Given the description of an element on the screen output the (x, y) to click on. 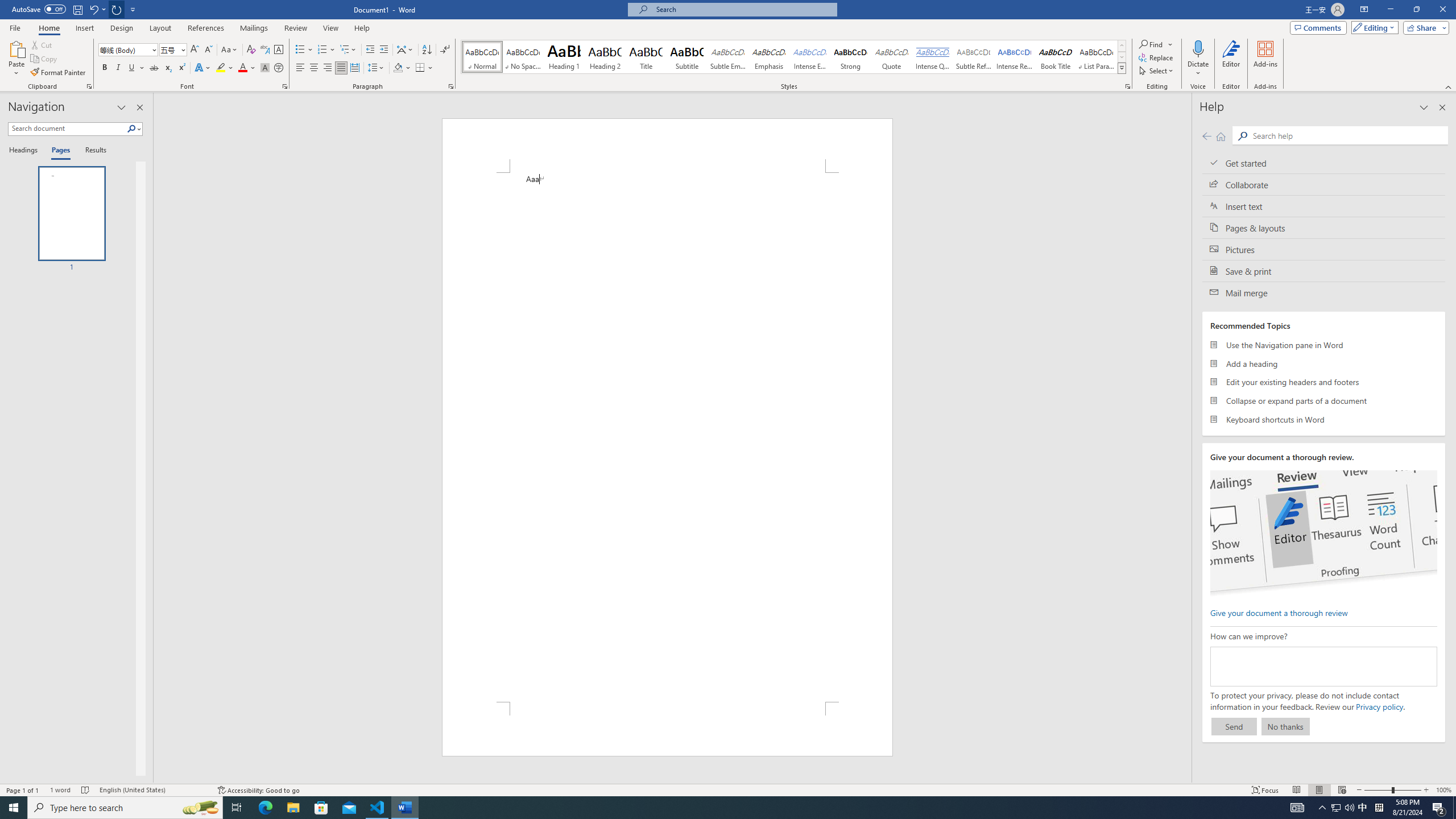
Use the Navigation pane in Word (1323, 344)
Add a heading (1323, 363)
Pictures (1323, 249)
